Given the description of an element on the screen output the (x, y) to click on. 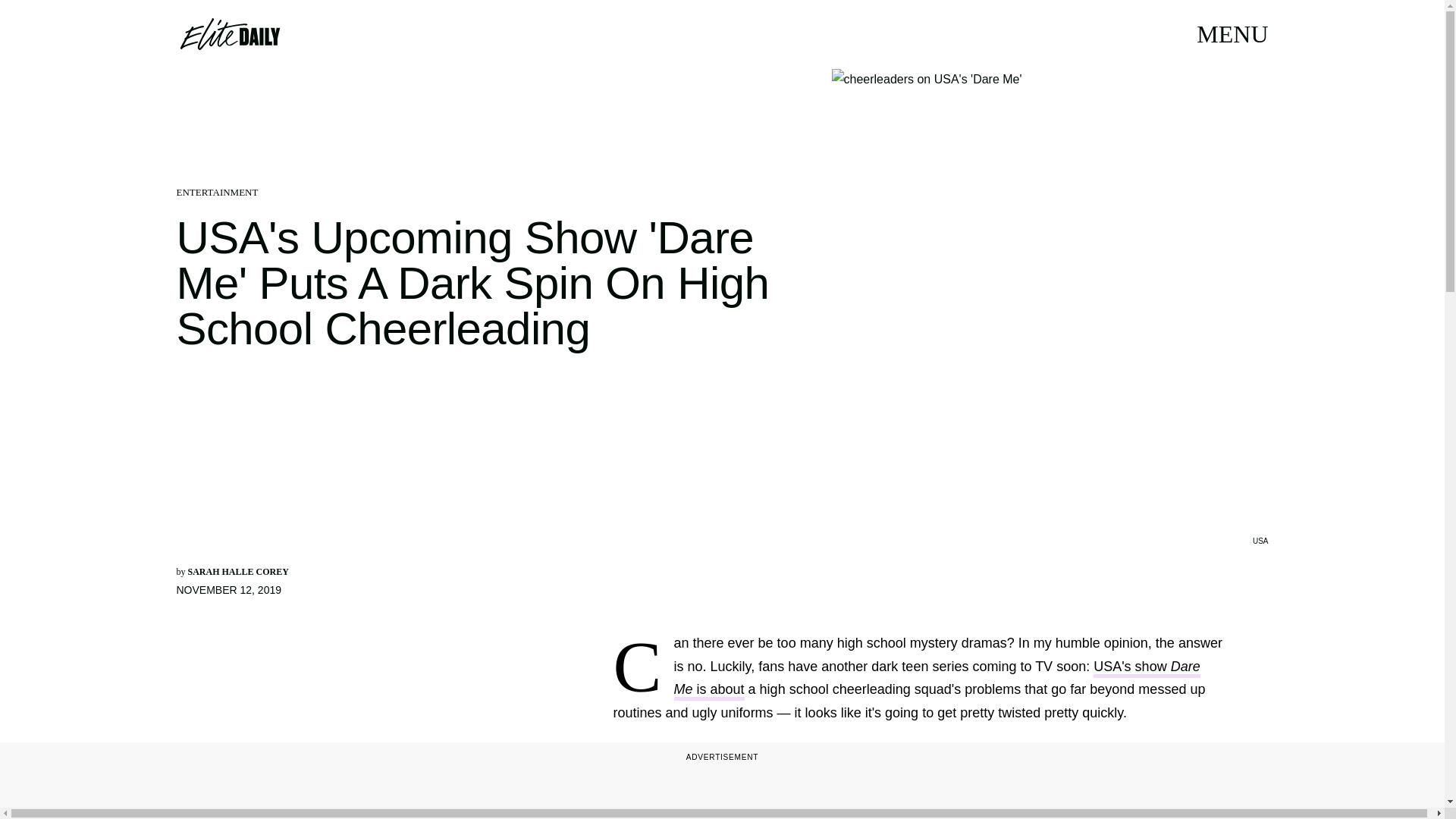
USA's show Dare Me is about (936, 680)
SARAH HALLE COREY (237, 571)
Elite Daily (229, 33)
